Given the description of an element on the screen output the (x, y) to click on. 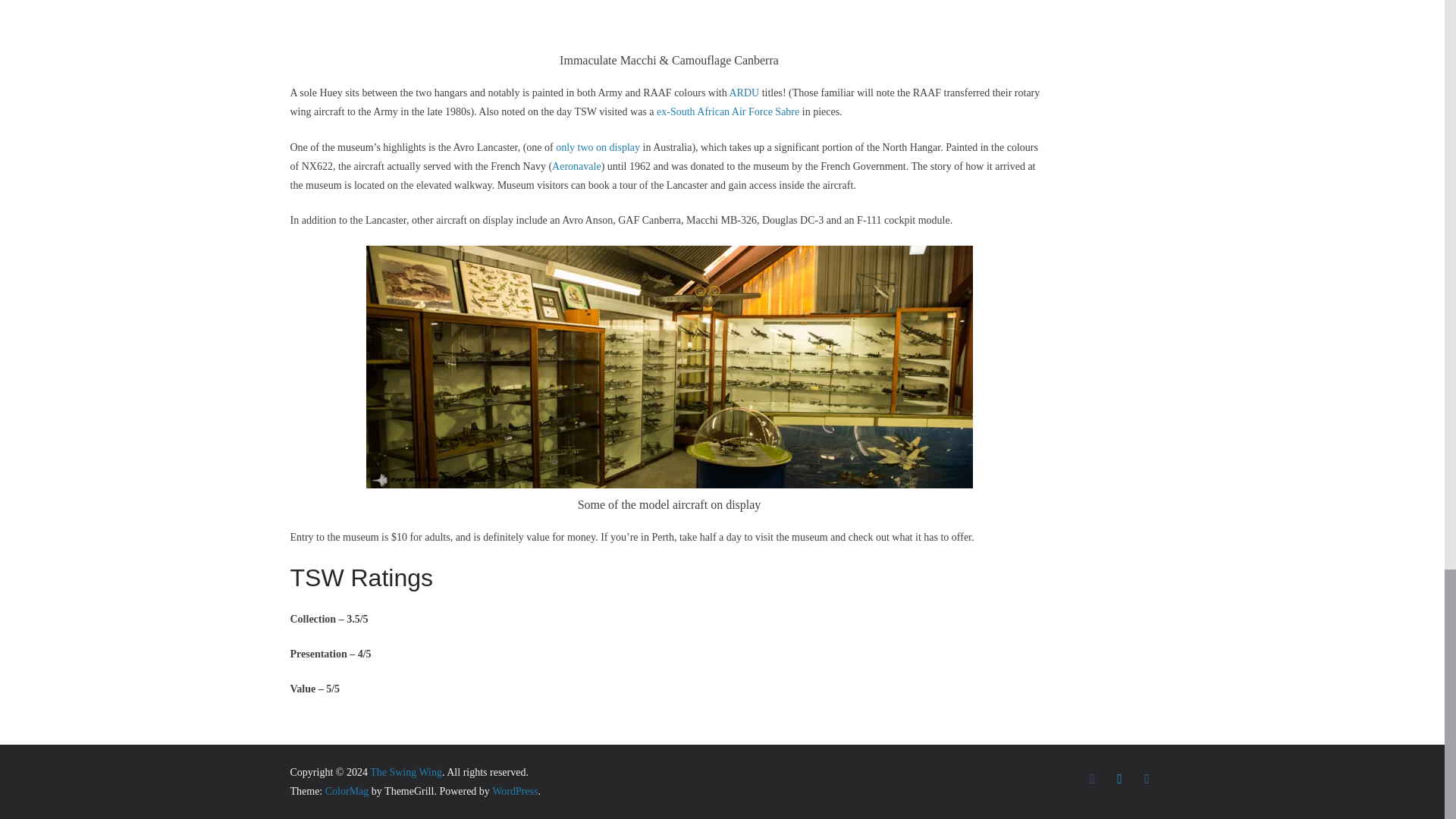
Aeronavale (576, 165)
WordPress (514, 790)
The Swing Wing (405, 772)
only two on display (598, 147)
ColorMag (346, 790)
ARDU (743, 92)
ex-South African Air Force Sabre (727, 111)
